Given the description of an element on the screen output the (x, y) to click on. 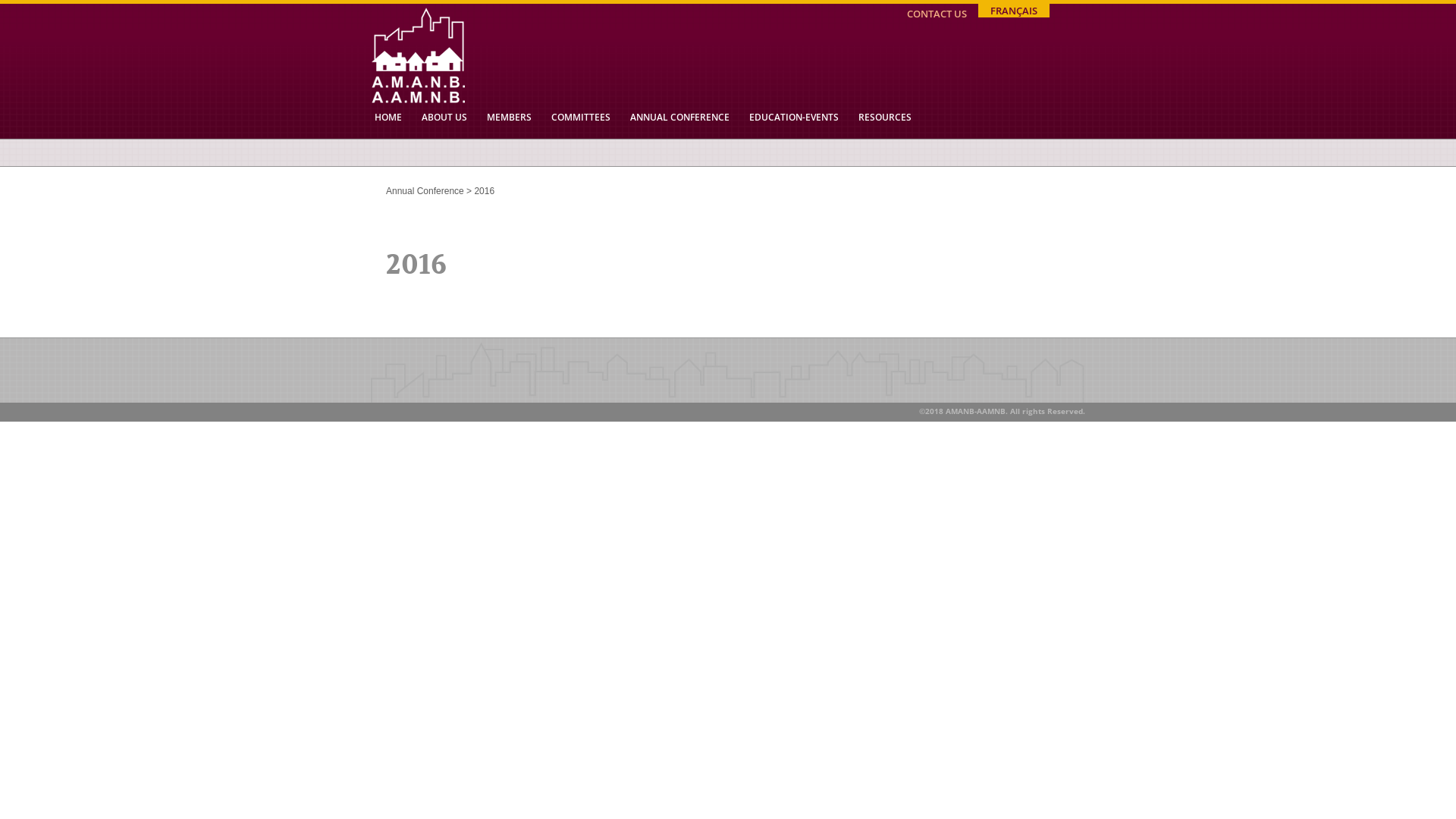
CONTACT US Element type: text (936, 13)
COMMITTEES Element type: text (580, 116)
EDUCATION-EVENTS Element type: text (793, 116)
RESOURCES Element type: text (884, 116)
ANNUAL CONFERENCE Element type: text (679, 116)
HOME Element type: text (387, 116)
ABOUT US Element type: text (444, 116)
MEMBERS Element type: text (508, 116)
